Given the description of an element on the screen output the (x, y) to click on. 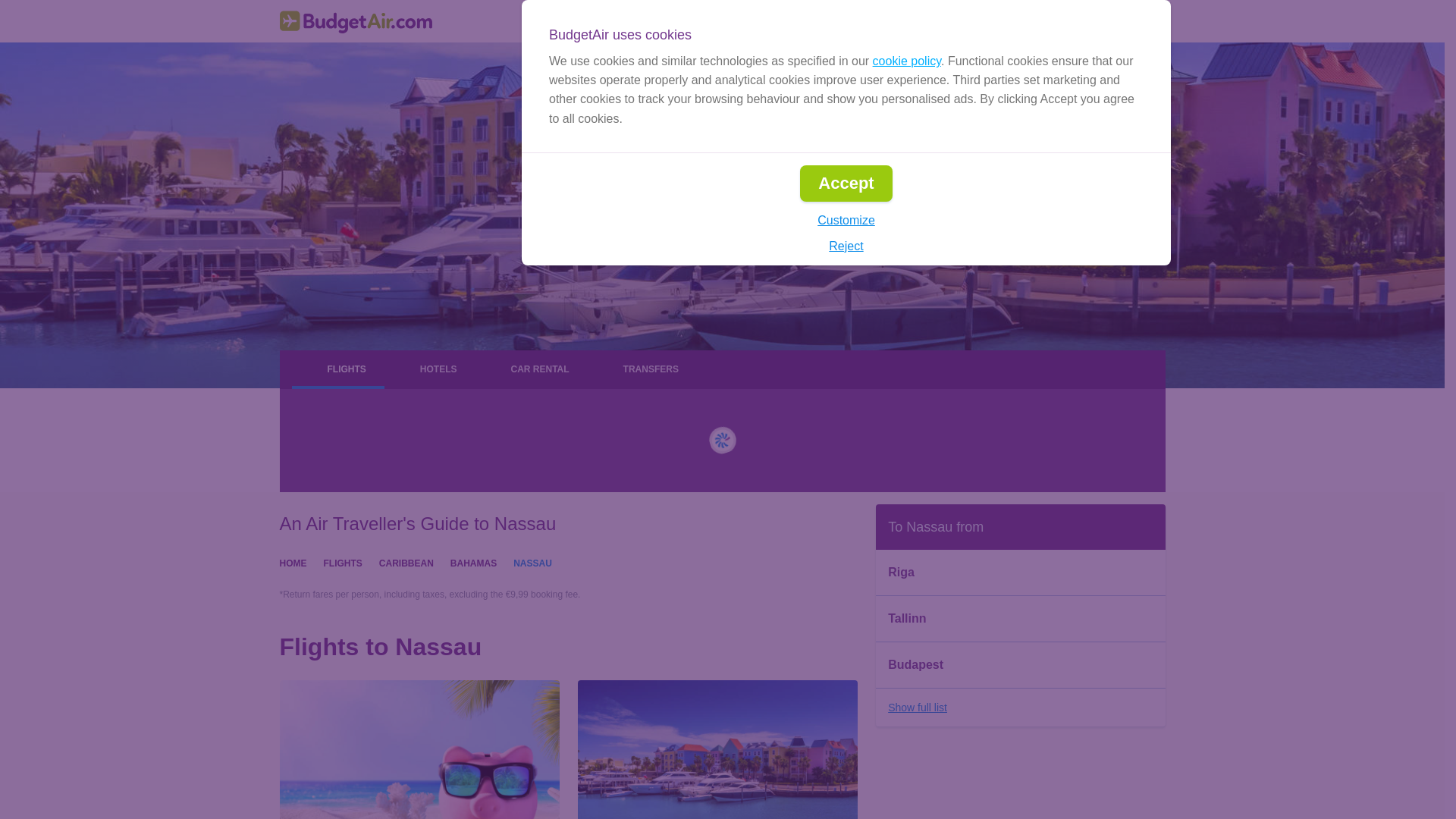
BAHAMAS (472, 562)
FLIGHTS (342, 562)
cookie policy (906, 60)
My Account (1116, 21)
English (902, 21)
HOME (292, 562)
CARIBBEAN (405, 562)
Accept (845, 183)
